Given the description of an element on the screen output the (x, y) to click on. 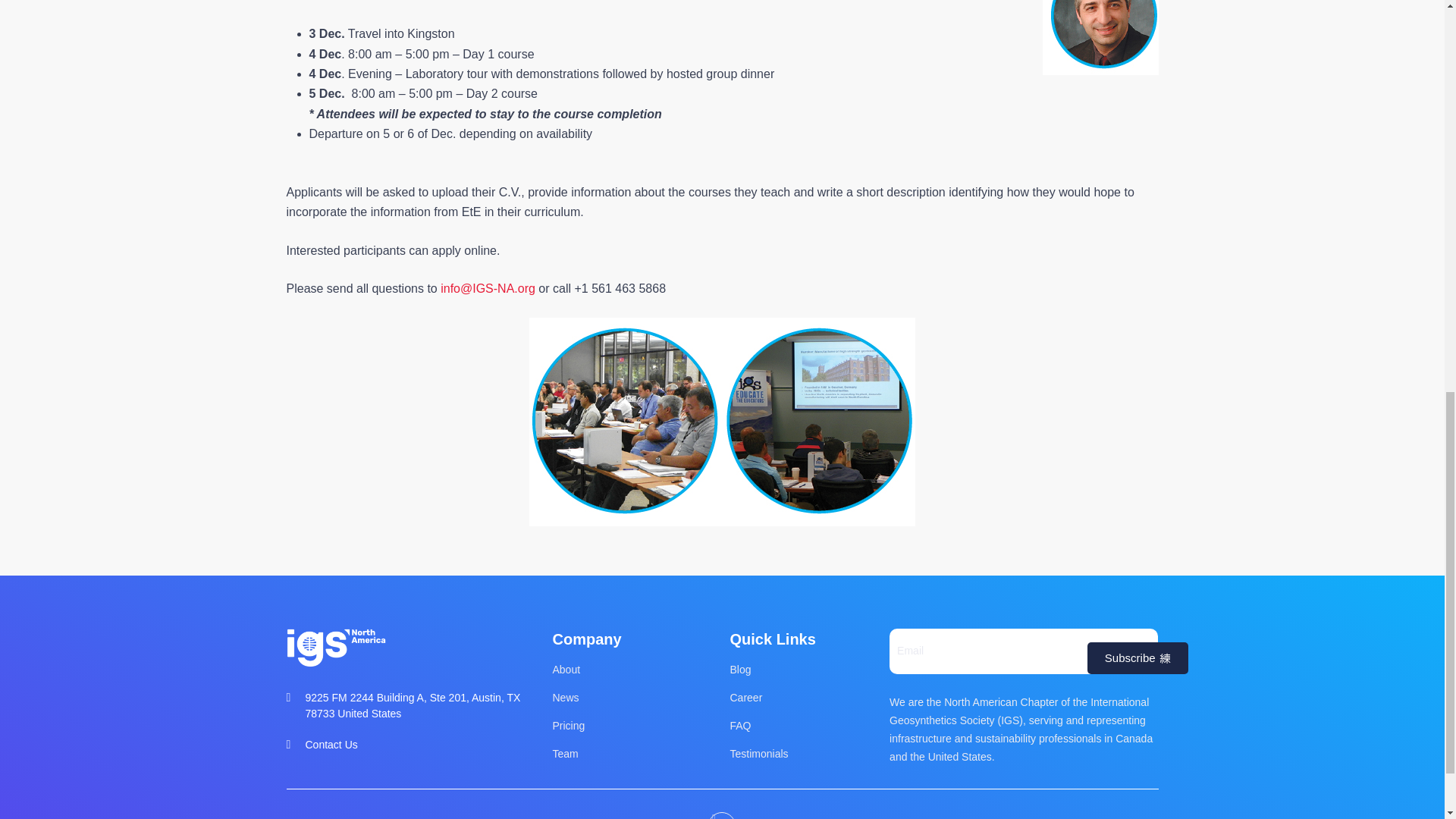
Blog (802, 669)
Pricing (632, 725)
Team (632, 754)
Contact Us (404, 744)
About (632, 669)
News (632, 697)
